Given the description of an element on the screen output the (x, y) to click on. 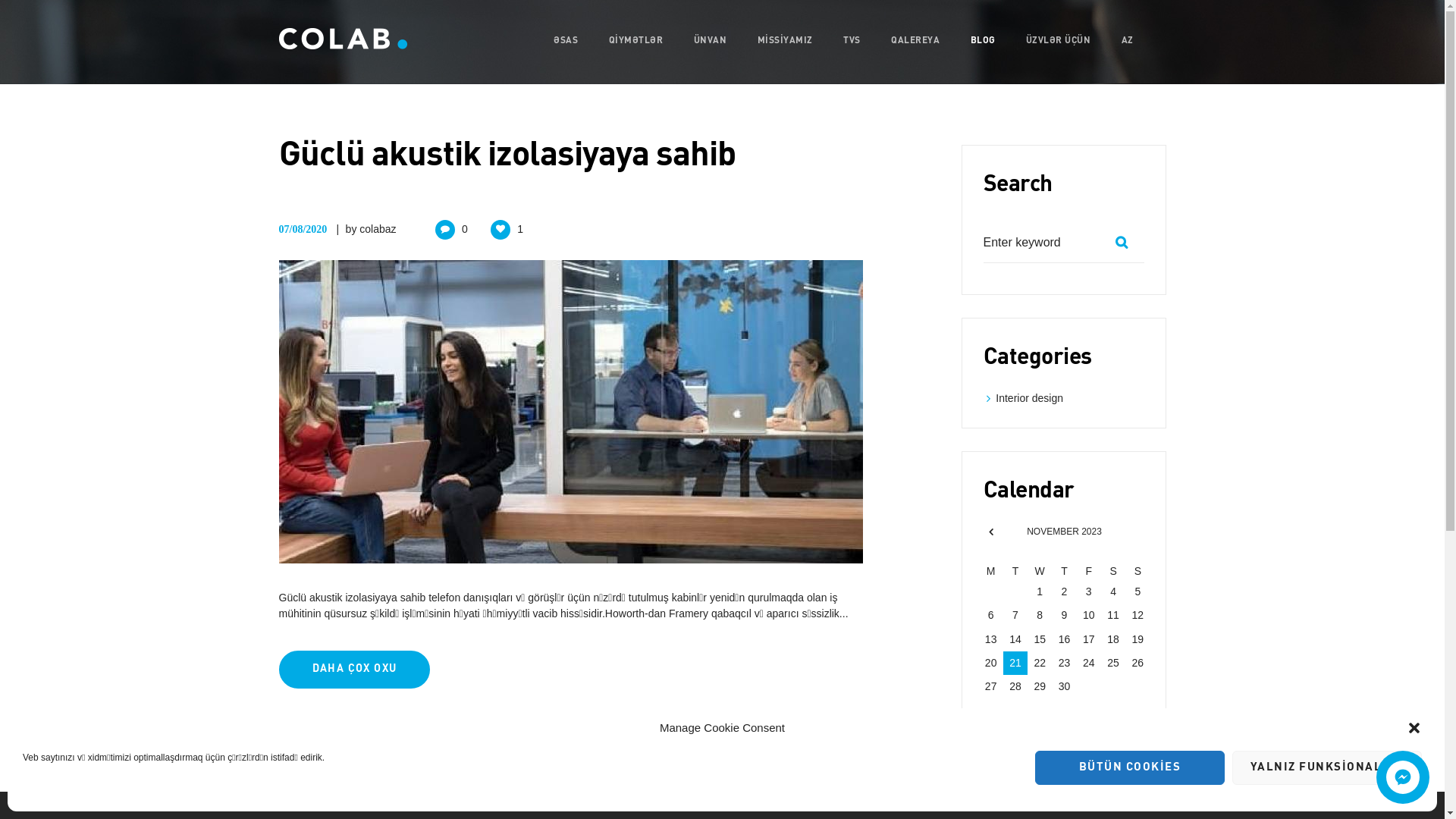
TVS Element type: text (851, 41)
QALEREYA Element type: text (914, 41)
0 Element type: text (451, 228)
BLOG Element type: text (982, 41)
Interior design Element type: text (1029, 398)
AZ Element type: text (1127, 41)
1 Element type: text (506, 228)
YALNIZ FUNKSIONALDIR Element type: text (1326, 767)
Search for: Element type: hover (1062, 242)
07/08/2020 Element type: text (303, 229)
View posts for August 2020 Element type: hover (990, 531)
colabaz Element type: text (377, 228)
